Given the description of an element on the screen output the (x, y) to click on. 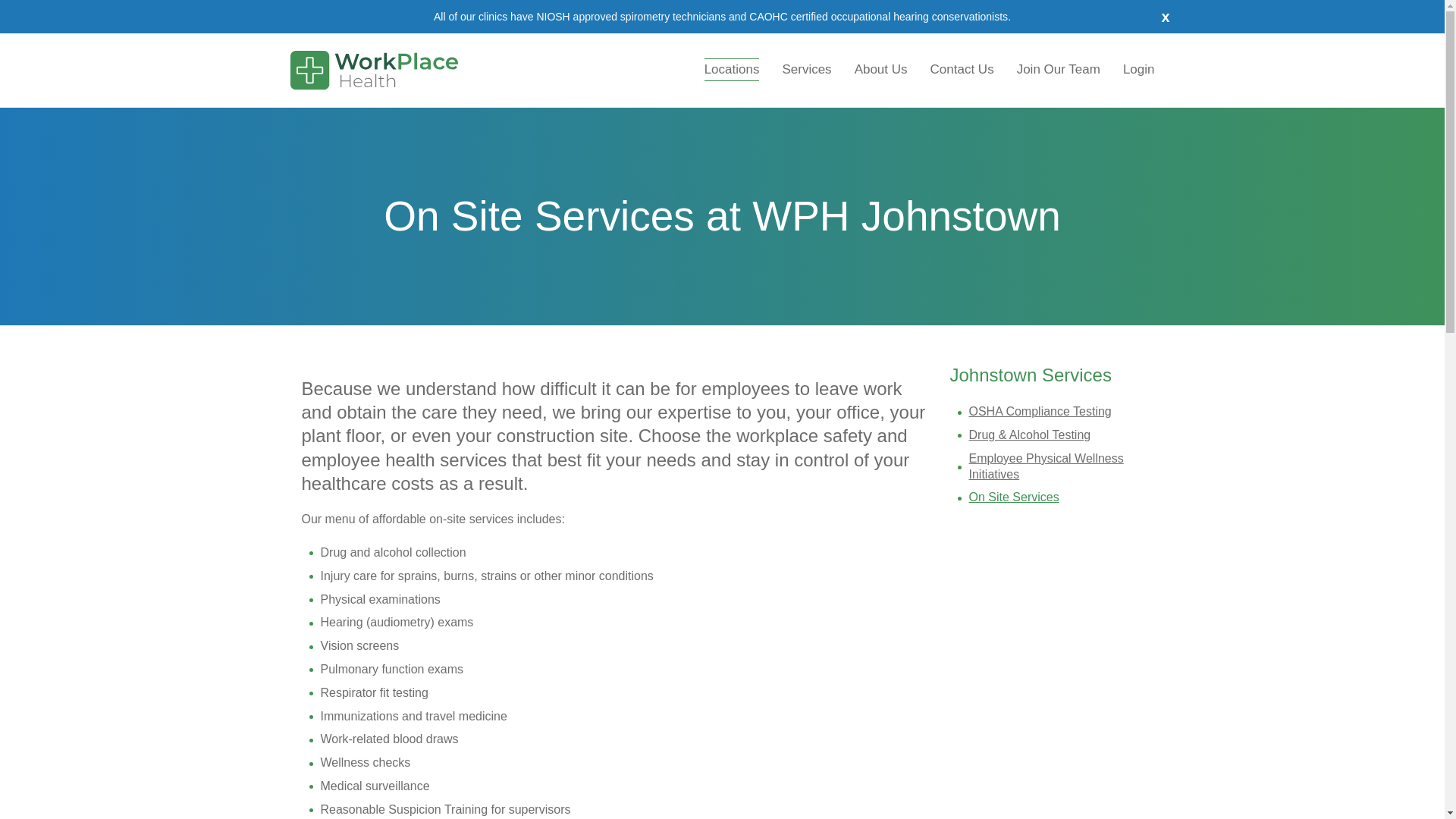
Login (1139, 69)
About Us (880, 69)
Services (806, 69)
Login (1139, 69)
OSHA Compliance Testing (1040, 410)
Join Our Team (1059, 69)
About Us (880, 69)
Locations (732, 69)
Join Our Team (1059, 69)
Services (806, 69)
Contact Us (962, 69)
Employee Physical Wellness Initiatives (1046, 466)
Locations (732, 69)
Contact Us (962, 69)
On Site Services (1014, 496)
